Given the description of an element on the screen output the (x, y) to click on. 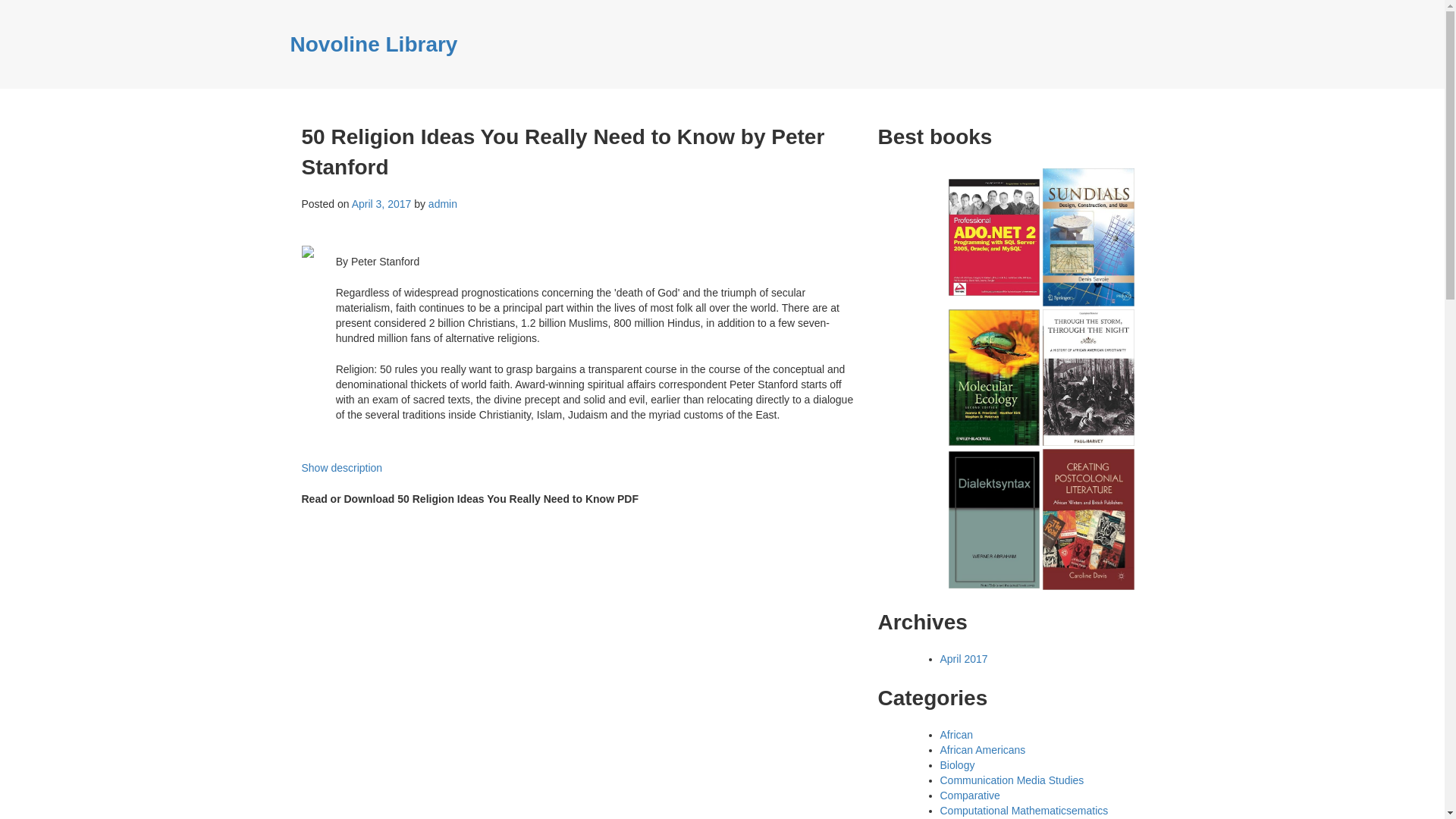
Computational Mathematicsematics (1024, 810)
African Americans (983, 749)
Dialektsyntax by WERNER ABRAHAM (994, 518)
admin (442, 203)
Novoline Library (373, 44)
Show description (341, 467)
African (957, 734)
